Given the description of an element on the screen output the (x, y) to click on. 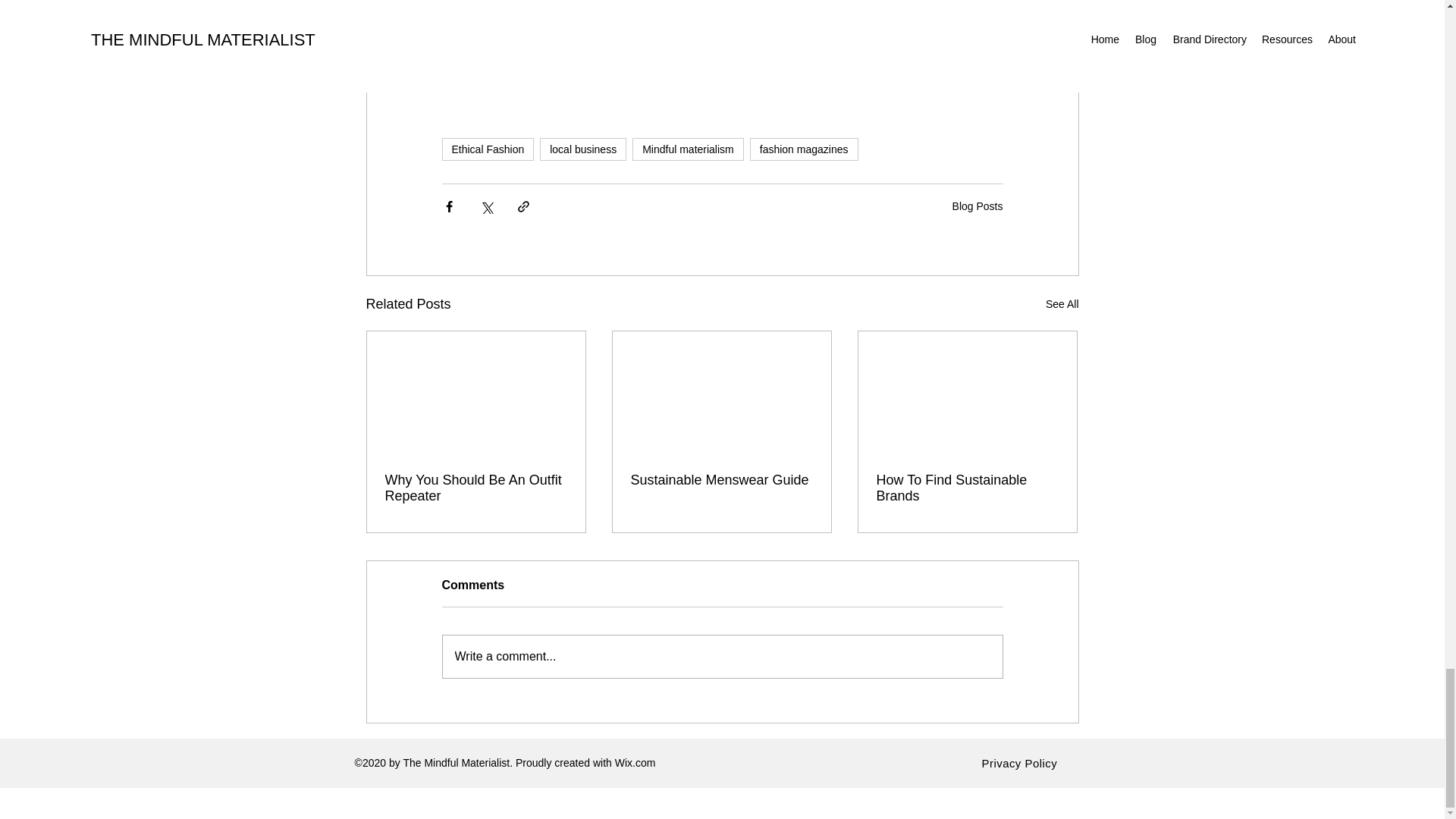
fashion magazines (804, 149)
local business (583, 149)
Ethical Fashion (487, 149)
Mindful materialism (687, 149)
